Given the description of an element on the screen output the (x, y) to click on. 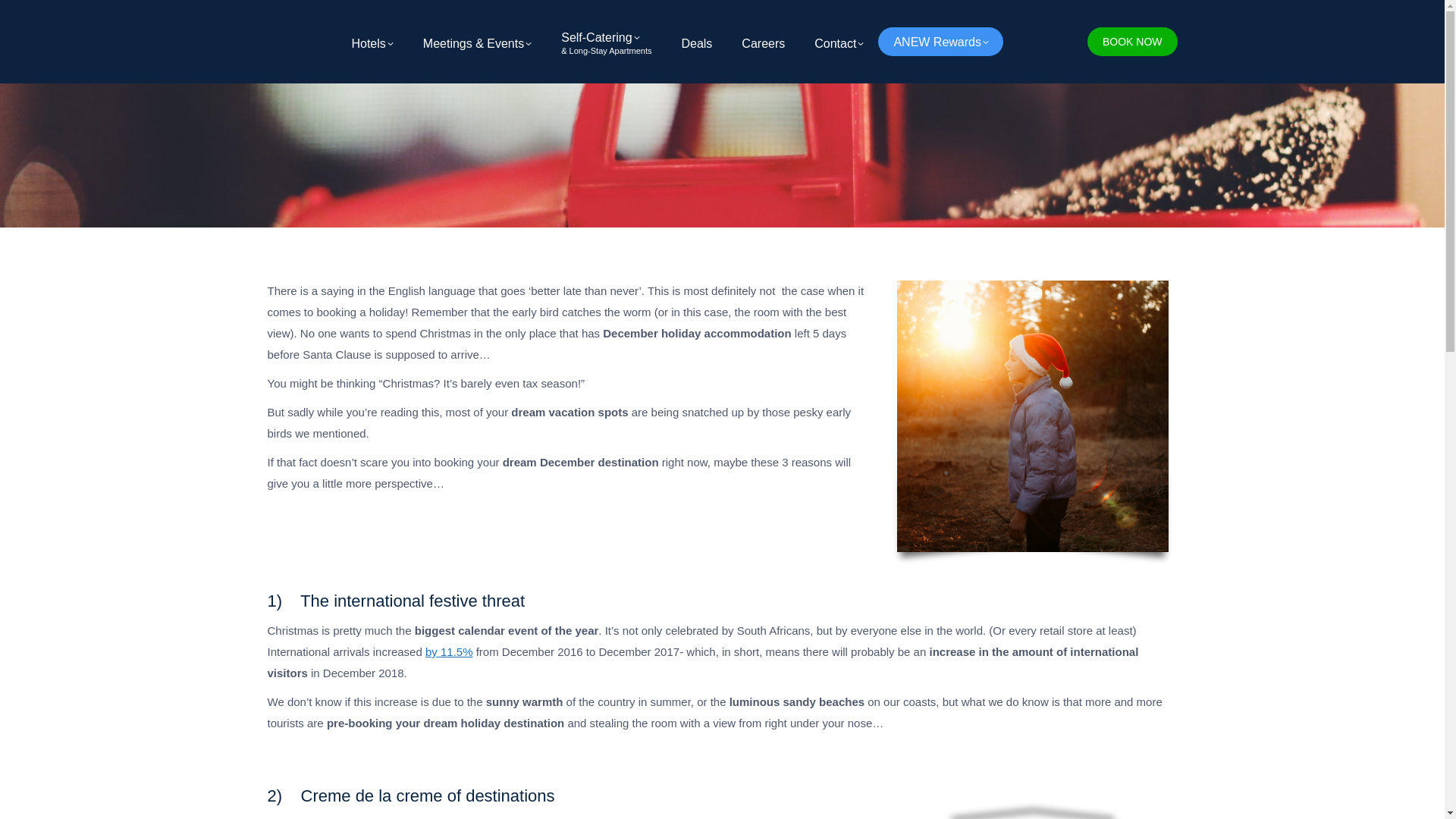
Christmas Accommodation (1032, 416)
